Given the description of an element on the screen output the (x, y) to click on. 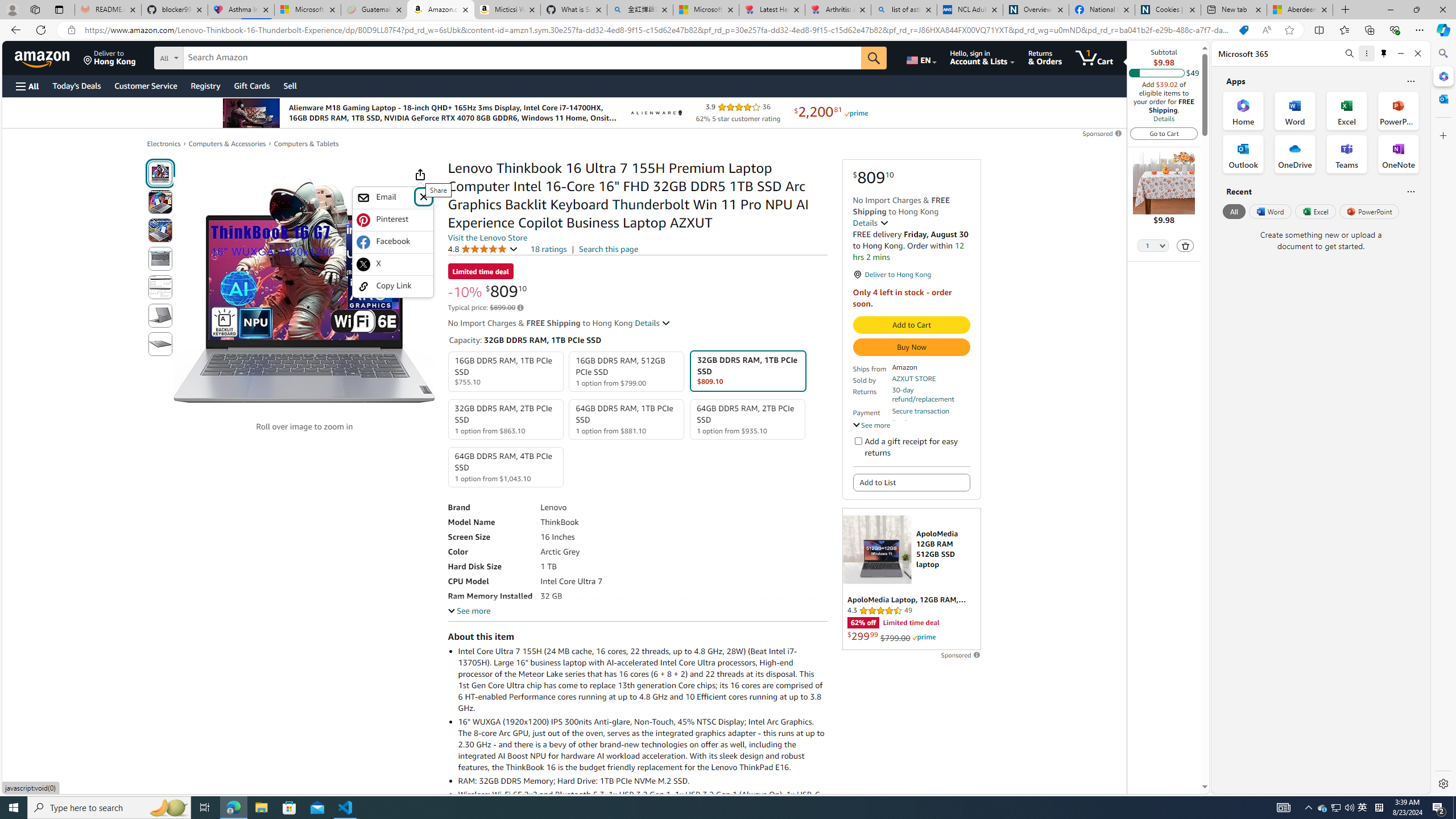
OneDrive Office App (1295, 154)
Quantity Selector (1153, 246)
Email (392, 197)
Delete (1184, 245)
16GB DDR5 RAM, 512GB PCIe SSD 1 option from $799.00 (626, 371)
Teams Office App (1346, 154)
PowerPoint Office App (1398, 110)
Sponsored ad (911, 578)
Registry (205, 85)
